Given the description of an element on the screen output the (x, y) to click on. 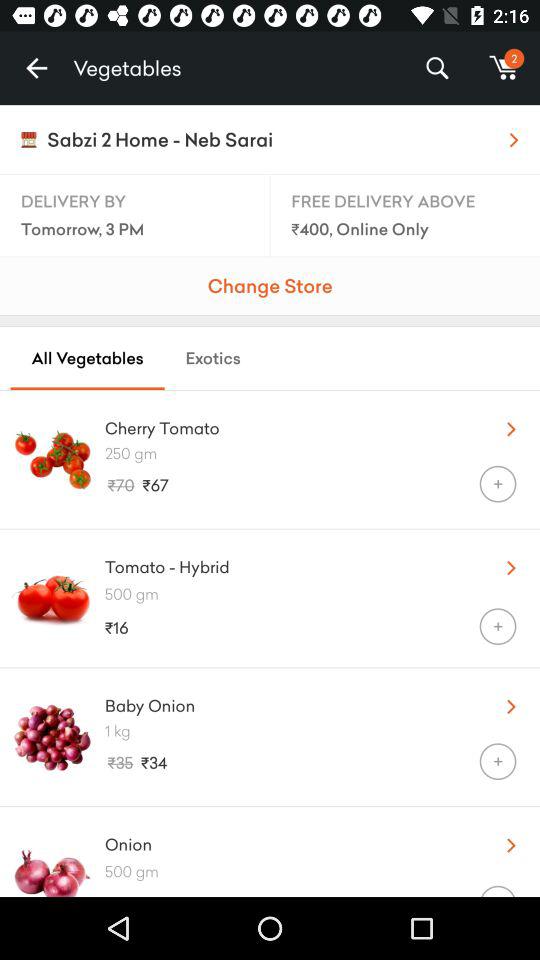
scroll until the + item (497, 761)
